Given the description of an element on the screen output the (x, y) to click on. 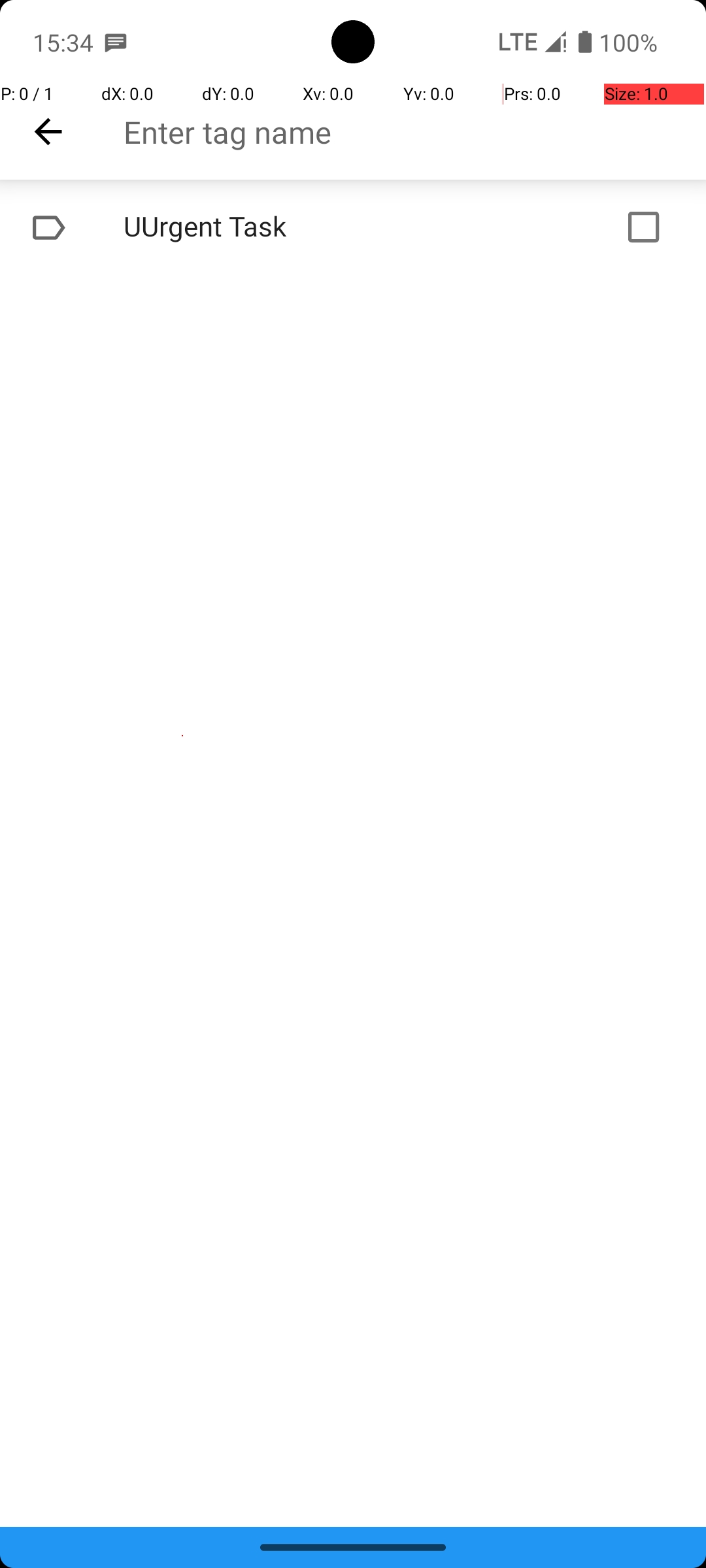
Enter tag name Element type: android.widget.EditText (414, 131)
UUrgent Task Element type: android.widget.TextView (311, 227)
